Given the description of an element on the screen output the (x, y) to click on. 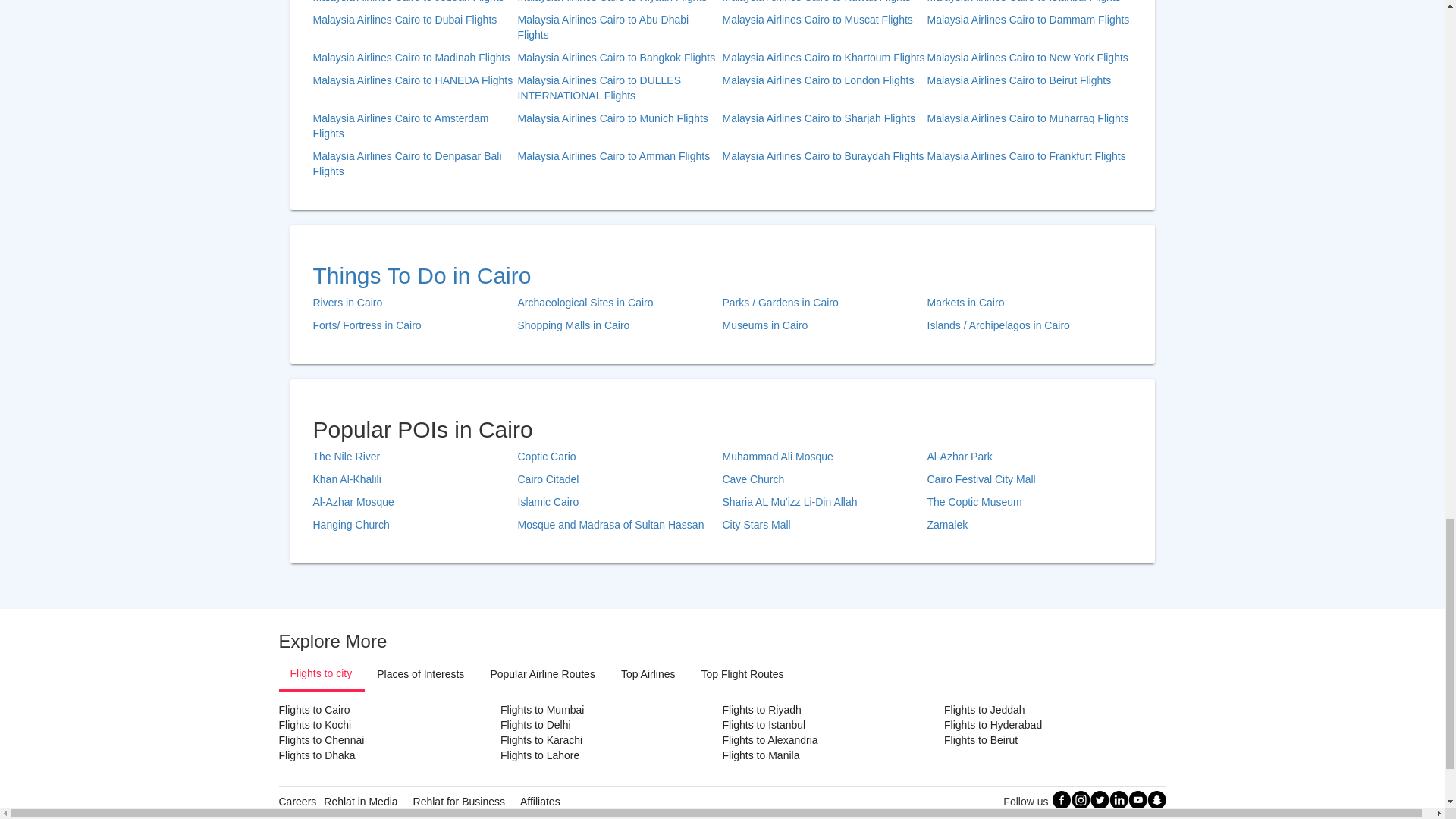
Malaysia Airlines Cairo to Kuwait Flights (824, 2)
Malaysia Airlines Cairo to Istanbul Flights (1028, 2)
Malaysia Airlines Cairo to Muscat Flights (824, 28)
Malaysia Airlines Cairo to Jeddah Flights (414, 2)
Malaysia Airlines Cairo to Dubai Flights (414, 28)
Malaysia Airlines Cairo to Abu Dhabi Flights (619, 28)
Malaysia Airlines Cairo to Riyadh Flights (619, 2)
Malaysia Airlines Cairo to Dammam Flights (1028, 28)
Malaysia Airlines Cairo to Madinah Flights (414, 58)
